Given the description of an element on the screen output the (x, y) to click on. 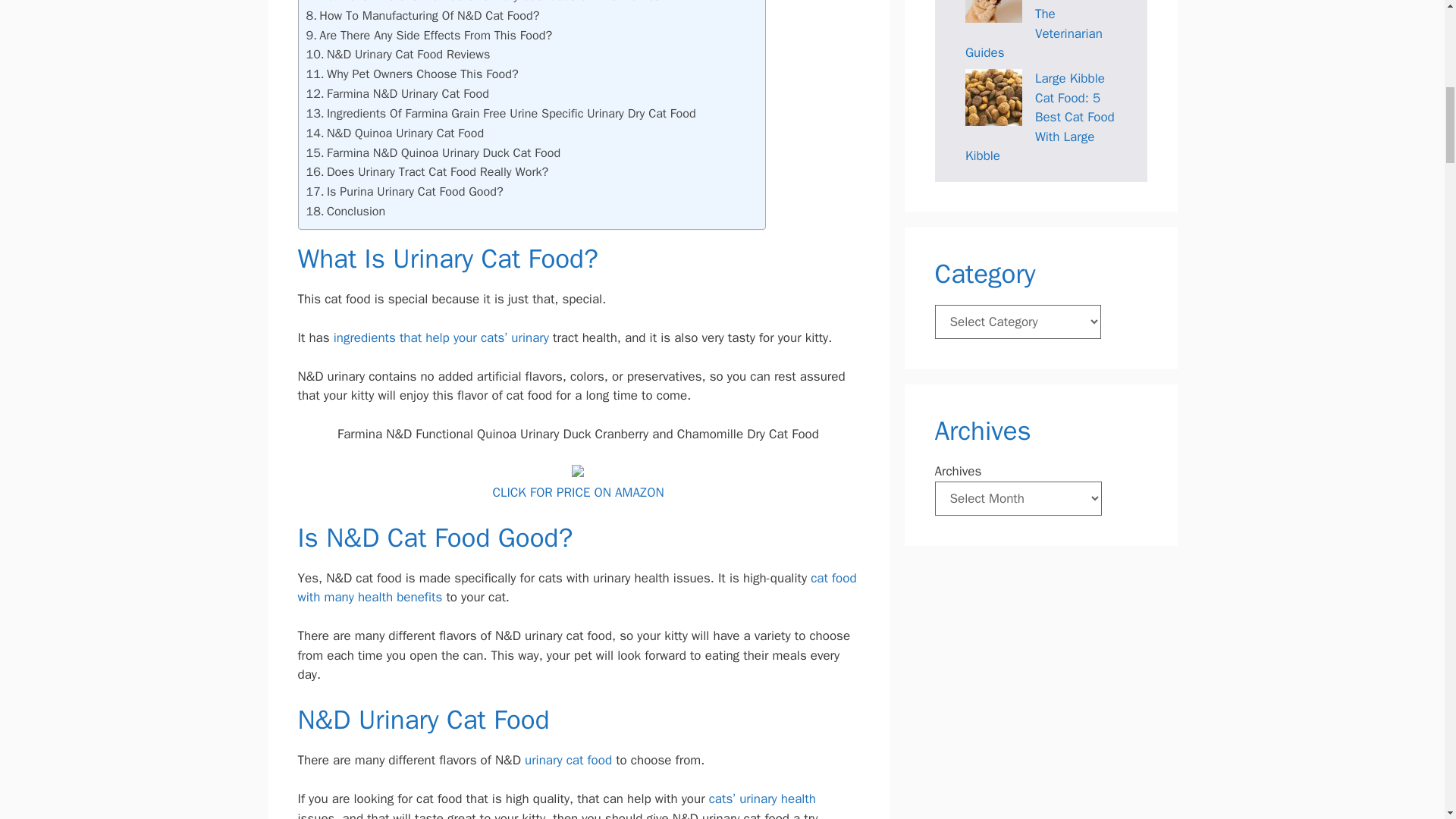
Why Pet Owners Choose This Food? (411, 74)
Are There Any Side Effects From This Food? (429, 35)
